Given the description of an element on the screen output the (x, y) to click on. 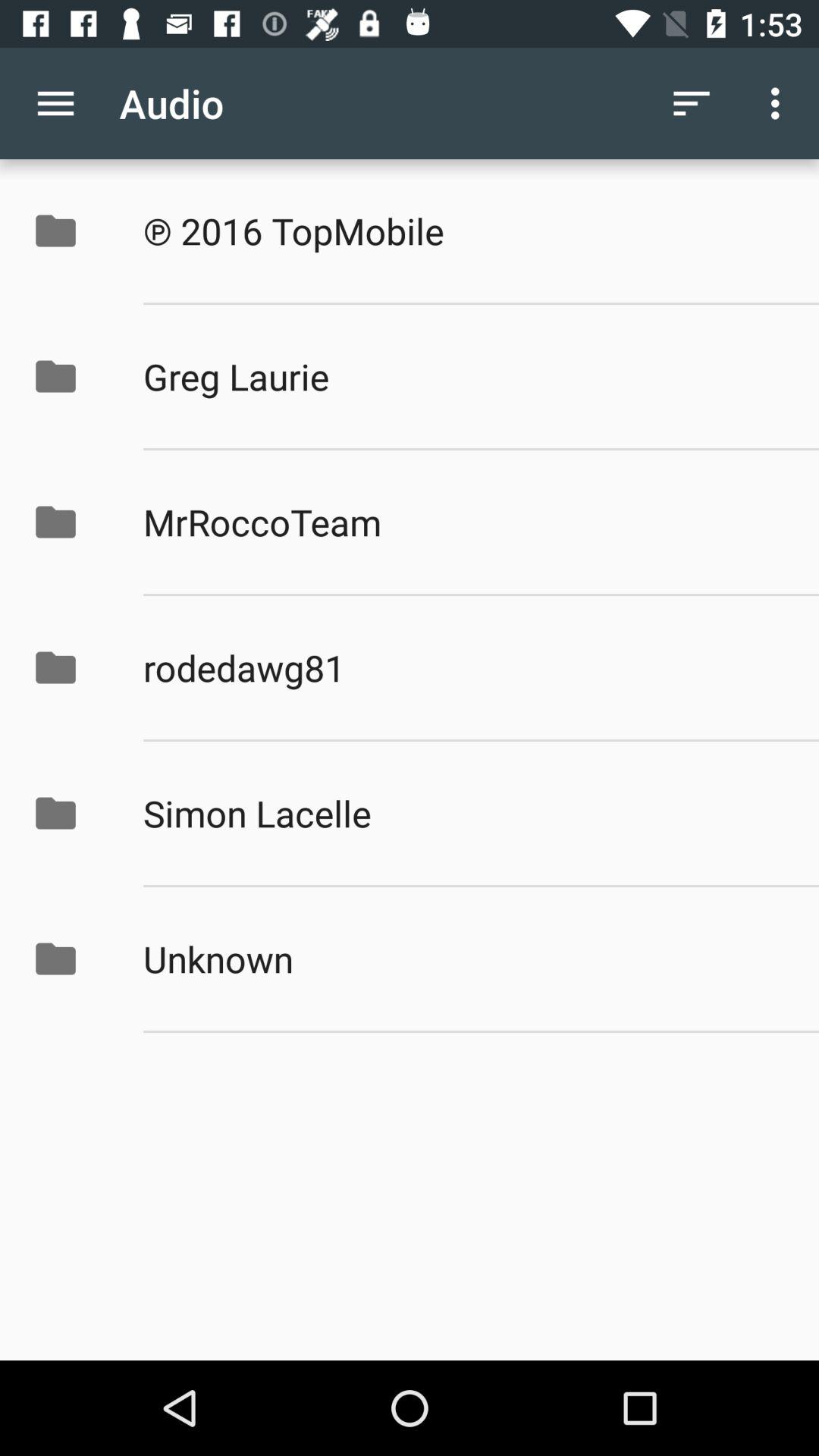
turn on app to the right of audio icon (691, 103)
